Given the description of an element on the screen output the (x, y) to click on. 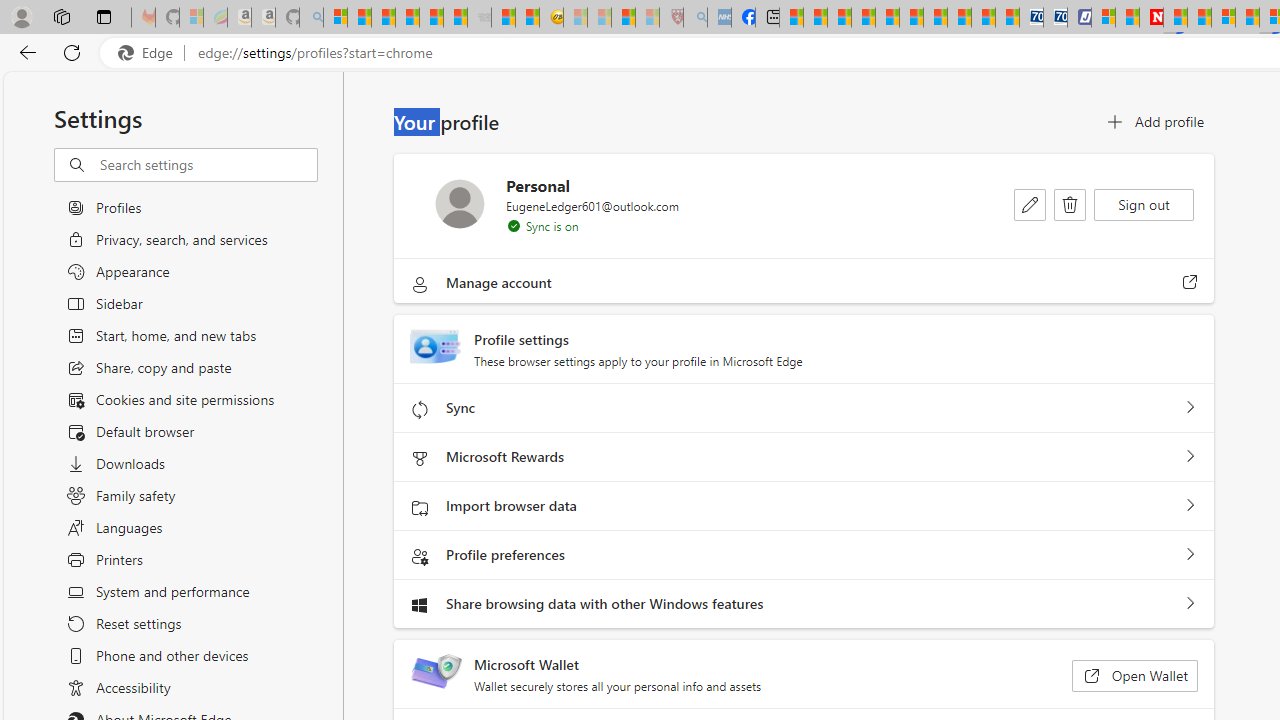
Trusted Community Engagement and Contributions | Guidelines (1174, 17)
Microsoft-Report a Concern to Bing - Sleeping (191, 17)
Sign out (1144, 204)
Search settings (207, 165)
Latest Politics News & Archive | Newsweek.com (1151, 17)
Personal Avatar icon (459, 203)
list of asthma inhalers uk - Search - Sleeping (694, 17)
